Given the description of an element on the screen output the (x, y) to click on. 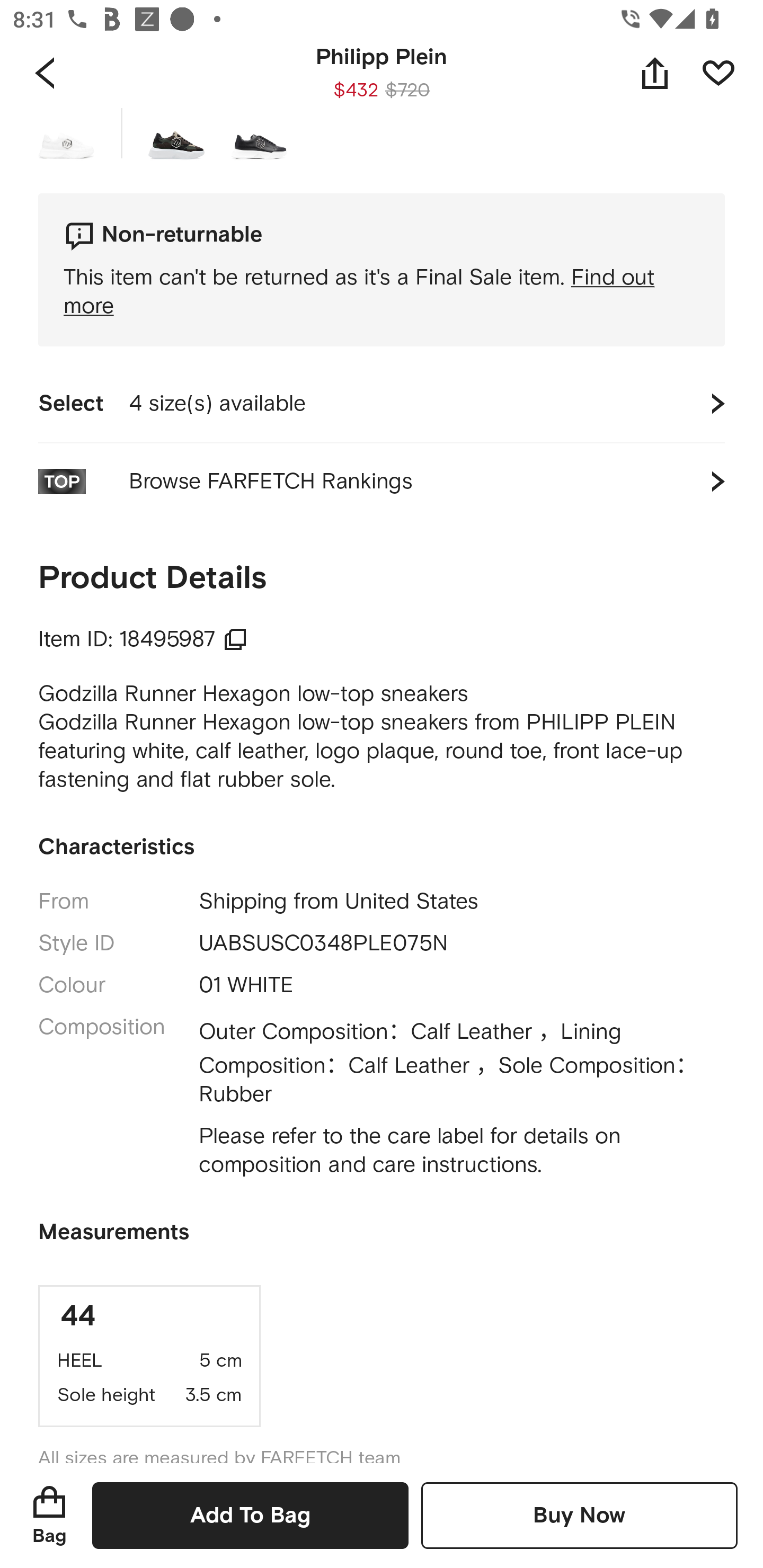
Select 4 size(s) available (381, 403)
Browse FARFETCH Rankings (381, 481)
Item ID: 18495987 (142, 639)
Bag (49, 1515)
Add To Bag (250, 1515)
Buy Now (579, 1515)
